Given the description of an element on the screen output the (x, y) to click on. 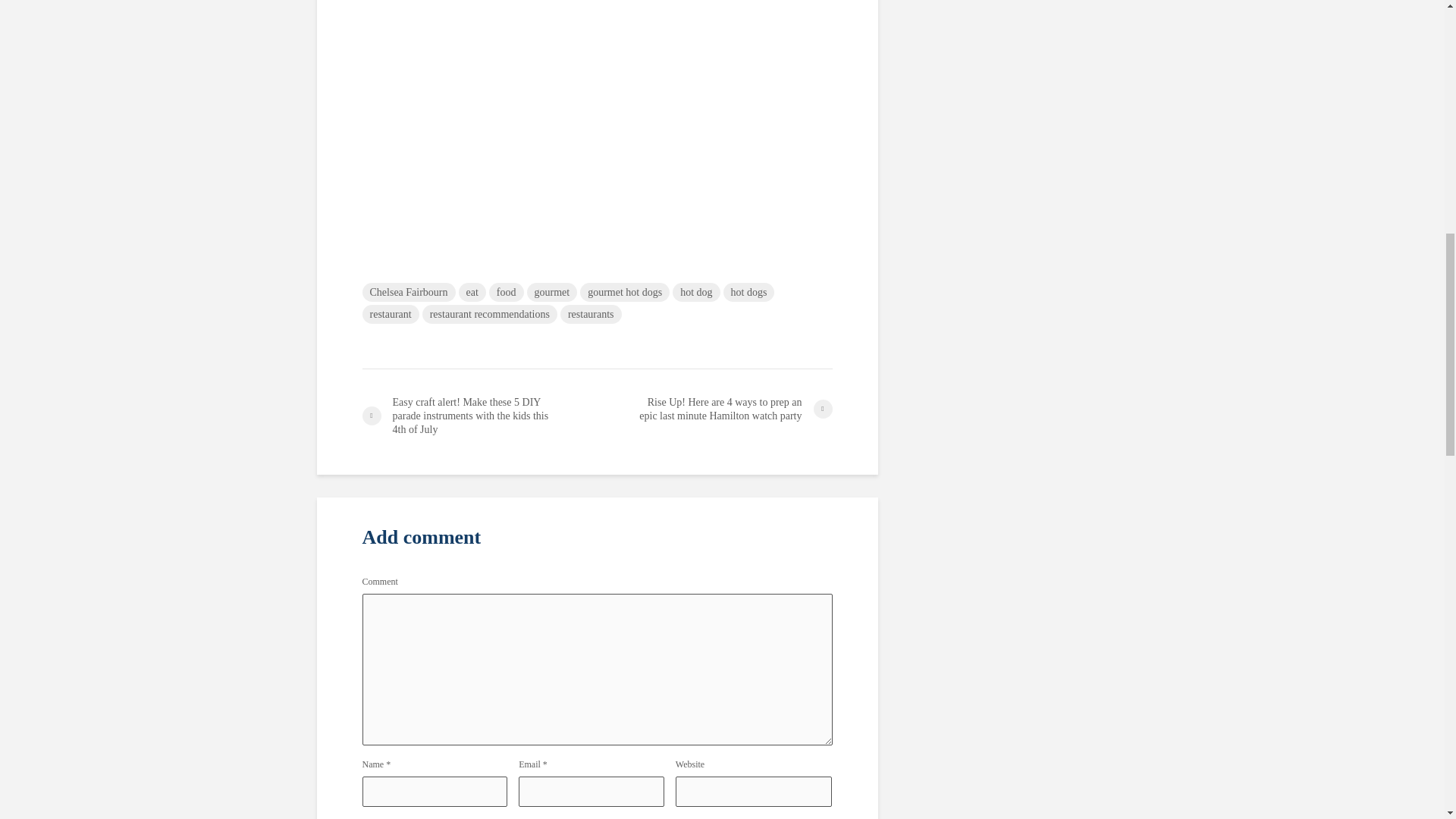
gourmet (552, 292)
food (506, 292)
Chelsea Fairbourn (408, 292)
hot dogs (748, 292)
restaurants (590, 313)
eat (472, 292)
restaurant recommendations (489, 313)
hot dog (695, 292)
